Given the description of an element on the screen output the (x, y) to click on. 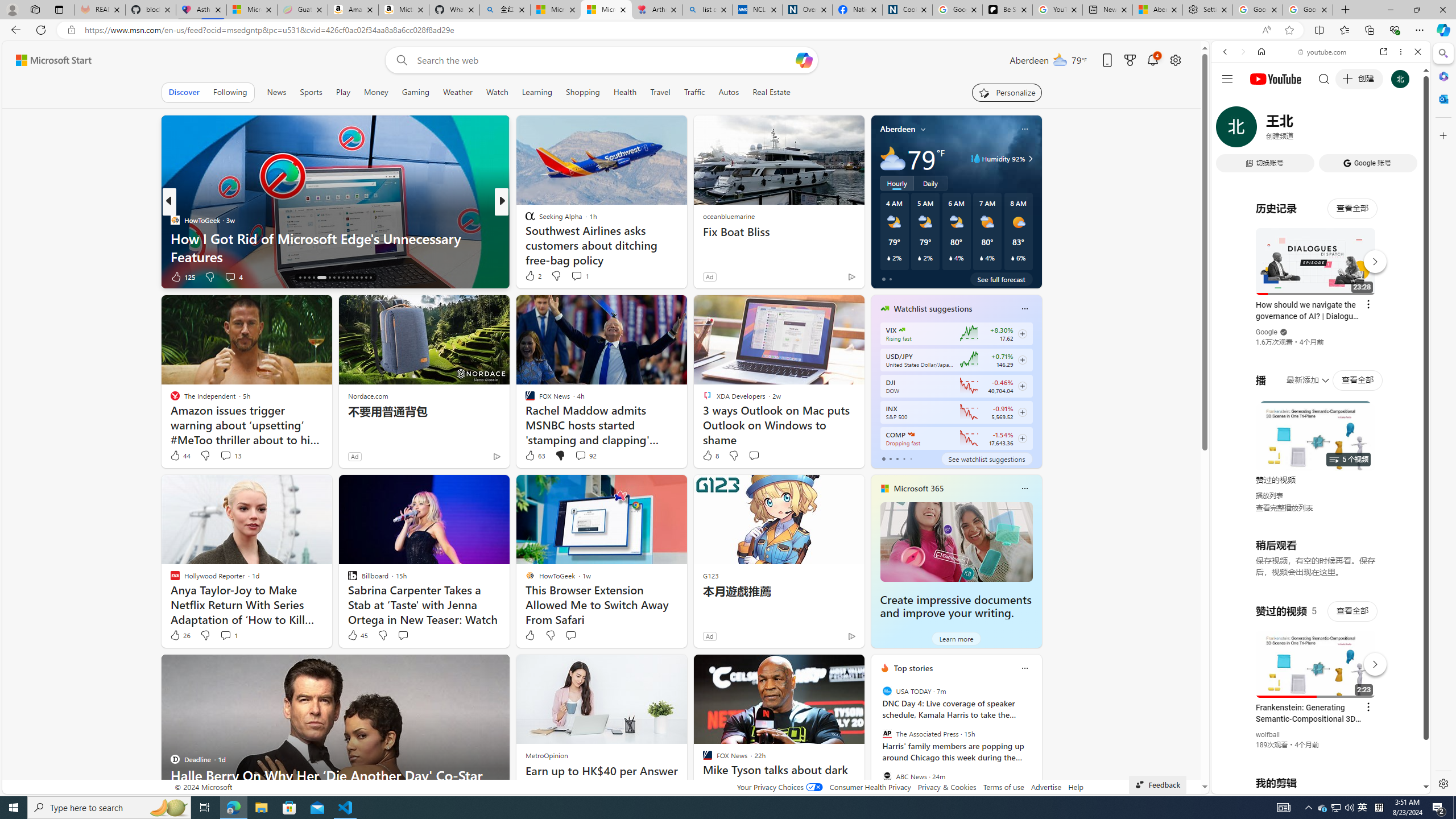
Inverse (524, 219)
